Given the description of an element on the screen output the (x, y) to click on. 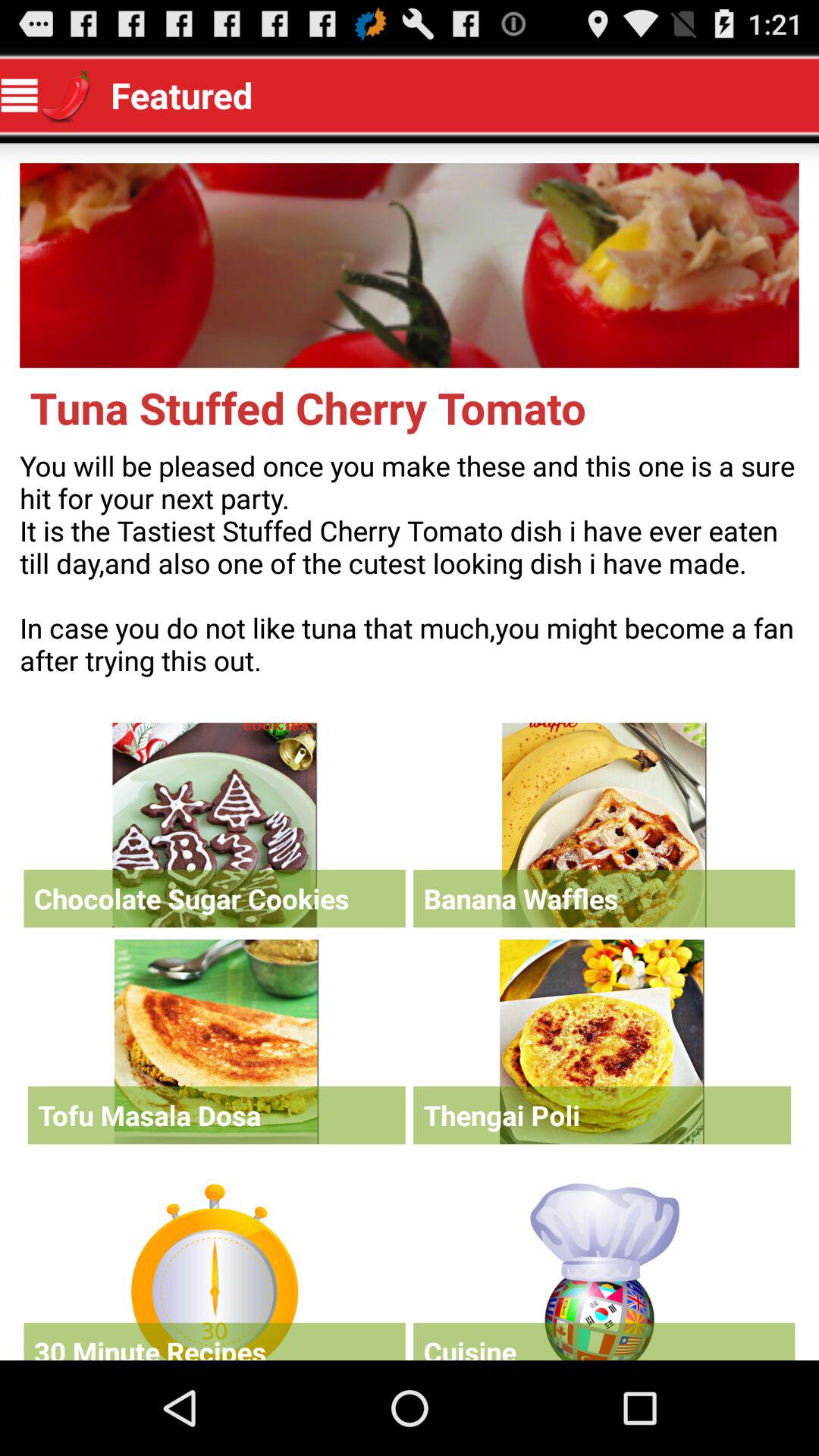
see recipe (602, 1041)
